Given the description of an element on the screen output the (x, y) to click on. 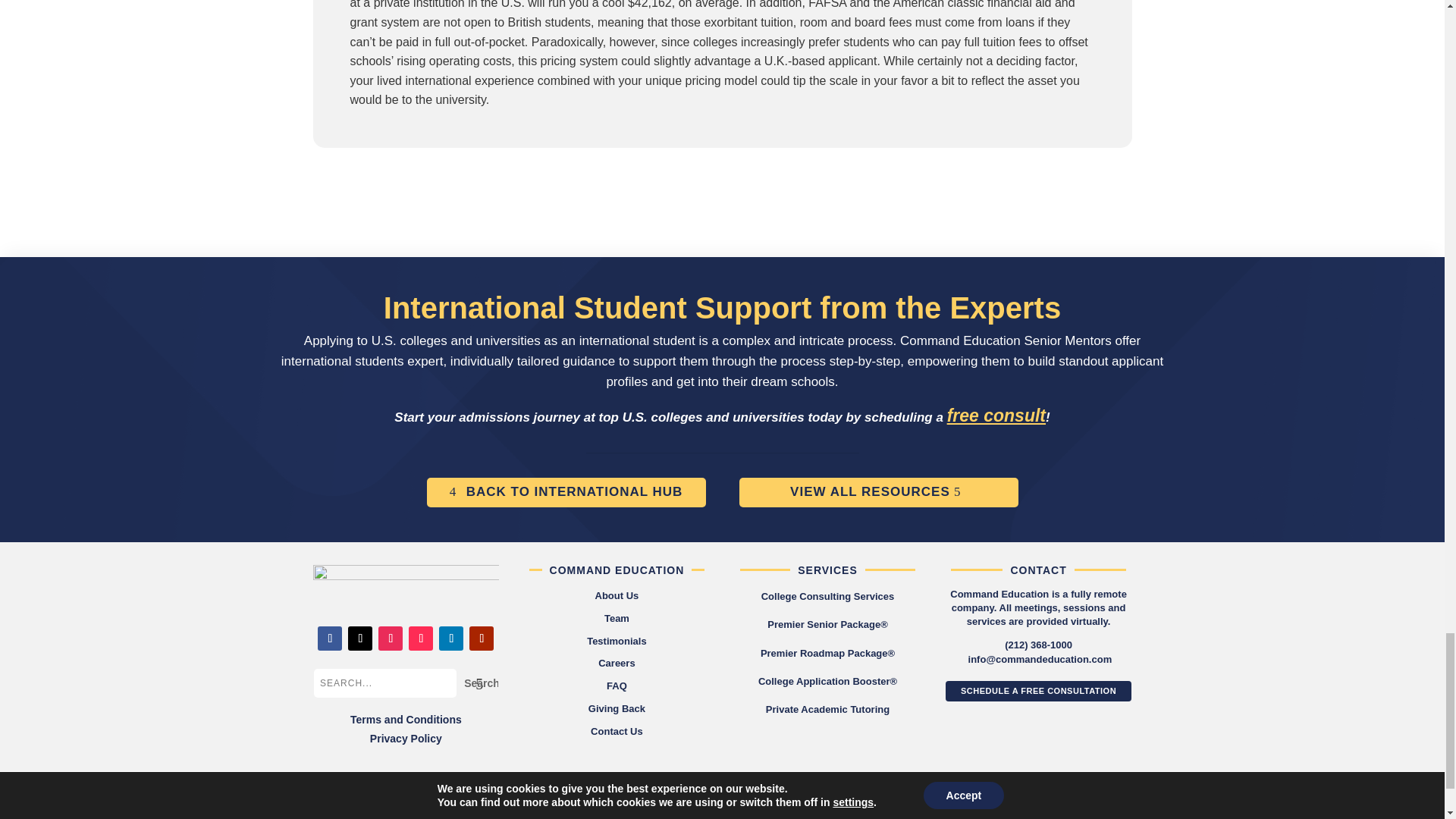
Follow on Facebook (329, 638)
Search (477, 683)
Follow on Youtube (480, 638)
NACAC (1005, 800)
Search (477, 683)
Follow on Instagram (390, 638)
Follow on TikTok (420, 638)
Follow on LinkedIn (451, 638)
Follow on Twitter (359, 638)
